Given the description of an element on the screen output the (x, y) to click on. 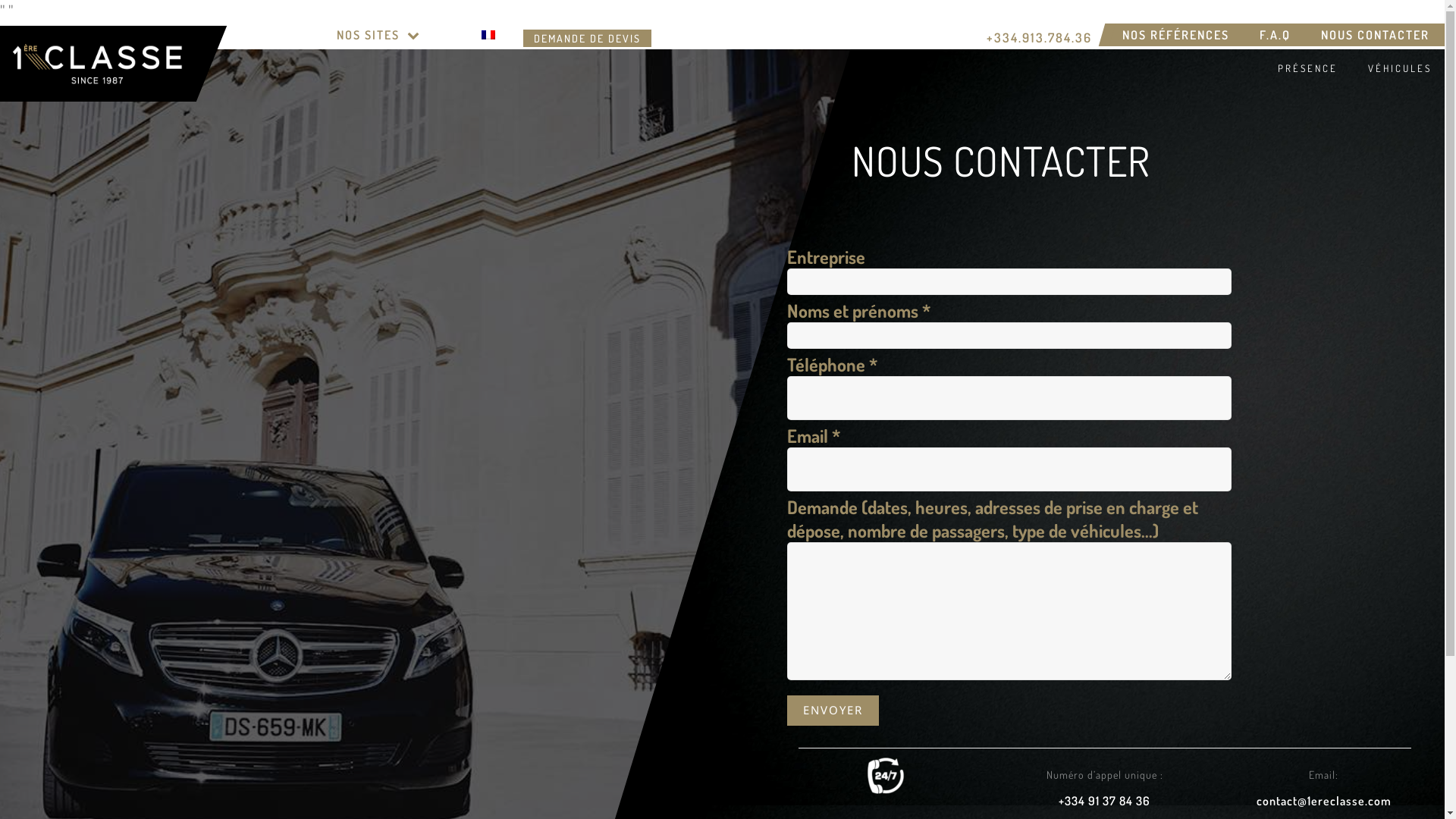
Envoyer Element type: text (832, 709)
appel-7j-24h-blanc Element type: hover (884, 775)
+334 91 37 84 36 Element type: text (1104, 800)
F.A.Q Element type: text (1274, 34)
DEMANDE DE DEVIS Element type: text (587, 38)
contact@1ereclasse.com Element type: text (1322, 800)
+334.913.784.36 Element type: text (1039, 37)
NOUS CONTACTER Element type: text (1374, 34)
NOS SITES Element type: text (378, 34)
